Given the description of an element on the screen output the (x, y) to click on. 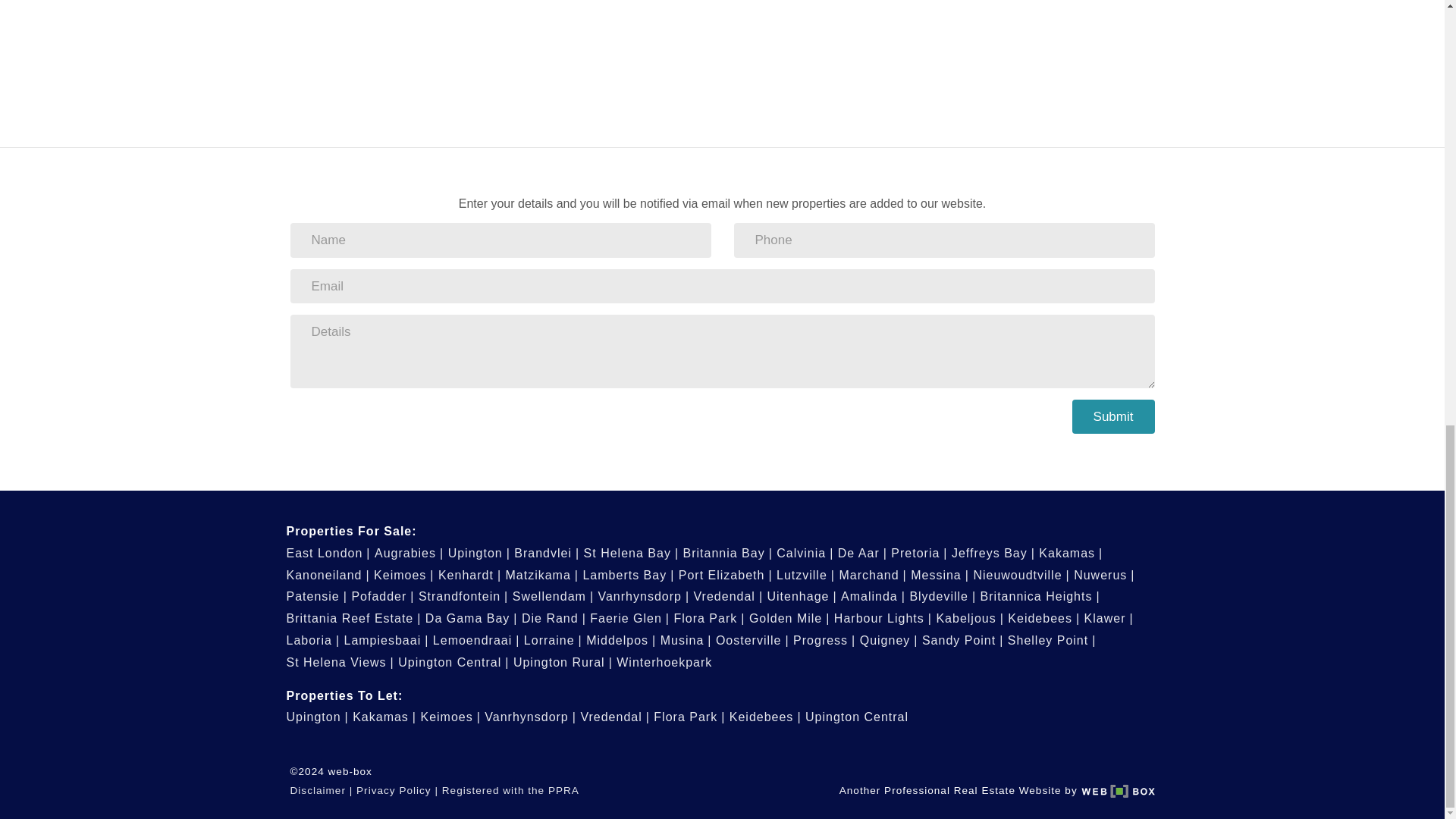
Properties for sale in Augrabies (409, 553)
google map (574, 54)
Properties for sale in Upington (479, 553)
Properties for sale in Britannia Bay (726, 553)
Properties for sale in East London (328, 553)
Properties for sale in Jeffreys Bay (993, 553)
Properties for sale in St Helena Bay (630, 553)
Properties for sale in De Aar (862, 553)
Properties for sale in Brandvlei (546, 553)
Properties for sale in Calvinia (804, 553)
Properties for sale in Pretoria (919, 553)
